Given the description of an element on the screen output the (x, y) to click on. 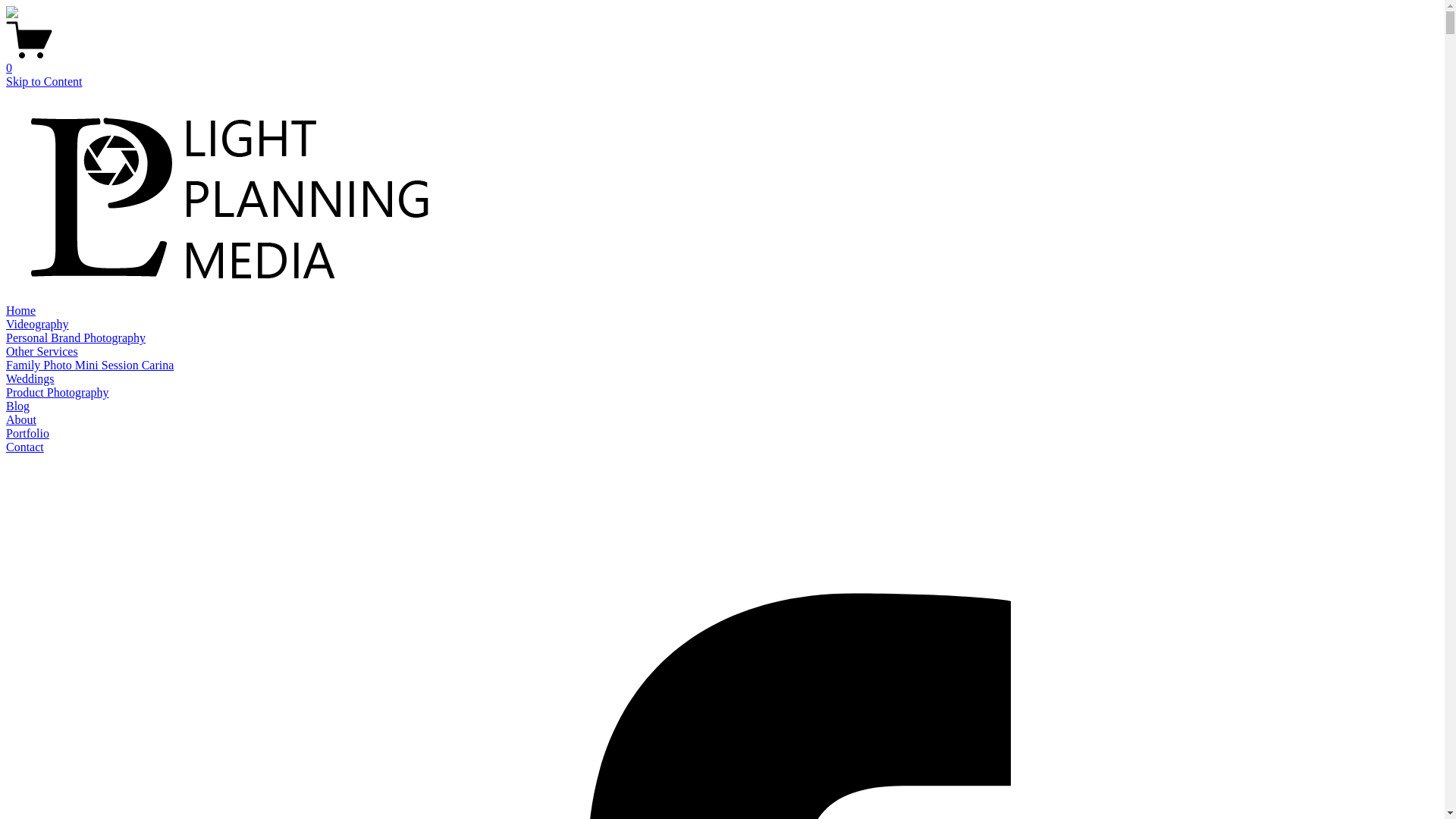
Skip to Content Element type: text (43, 81)
About Element type: text (21, 419)
Family Photo Mini Session Carina Element type: text (89, 364)
Home Element type: text (20, 310)
Weddings Element type: text (30, 378)
Personal Brand Photography Element type: text (75, 337)
0 Element type: text (722, 61)
Contact Element type: text (24, 446)
Other Services Element type: text (42, 351)
Product Photography Element type: text (57, 391)
Blog Element type: text (17, 405)
Portfolio Element type: text (27, 432)
Videography Element type: text (37, 323)
